Given the description of an element on the screen output the (x, y) to click on. 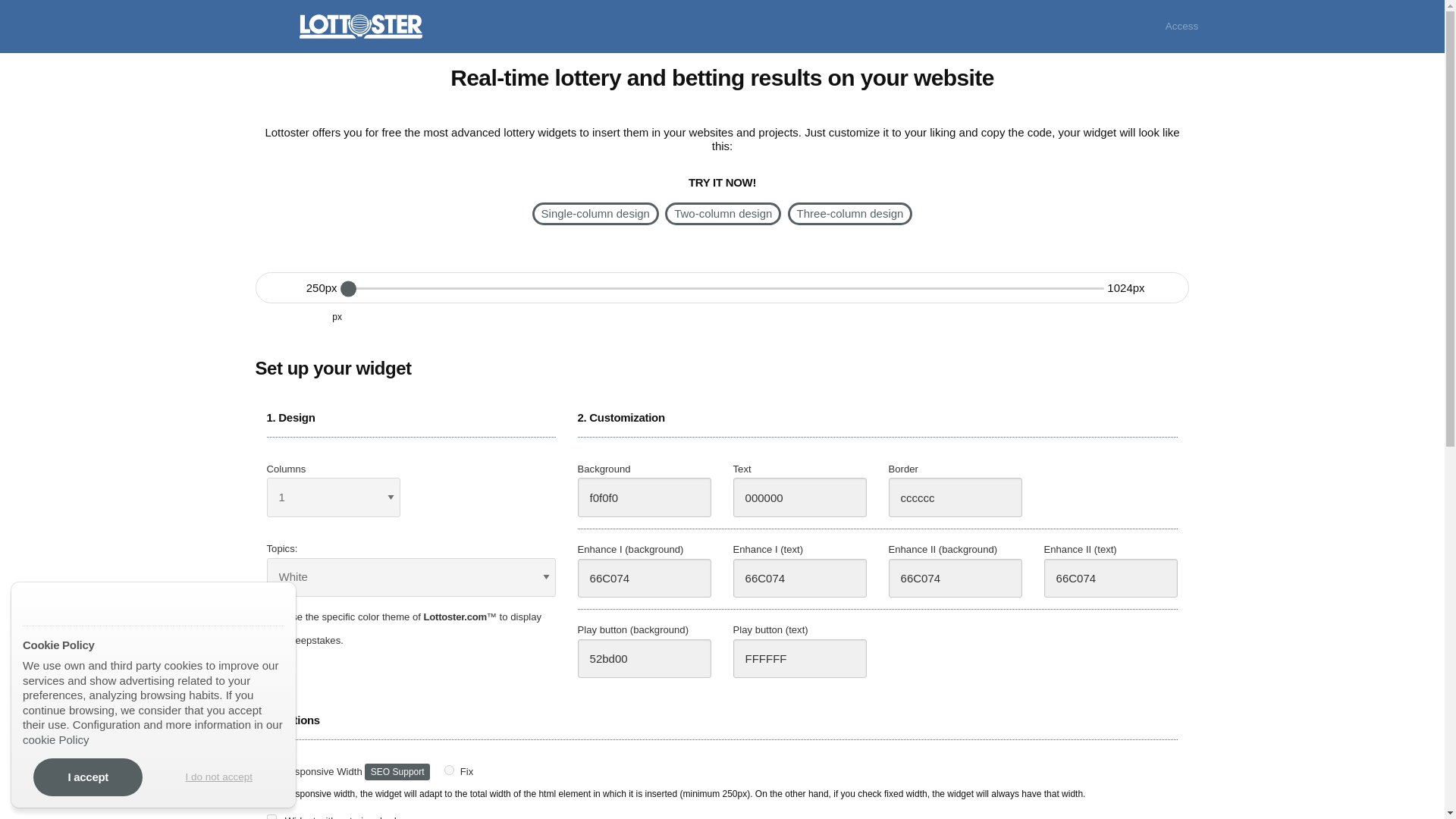
66C074 (1110, 578)
66C074 (800, 578)
Menu (269, 25)
f0f0f0 (644, 496)
Menu (269, 26)
on (271, 816)
52bd00 (644, 658)
66C074 (955, 578)
LottoSter (74, 603)
responsive (271, 769)
000000 (800, 496)
FFFFFF (800, 658)
66C074 (644, 578)
on (271, 614)
fixed (449, 769)
